Given the description of an element on the screen output the (x, y) to click on. 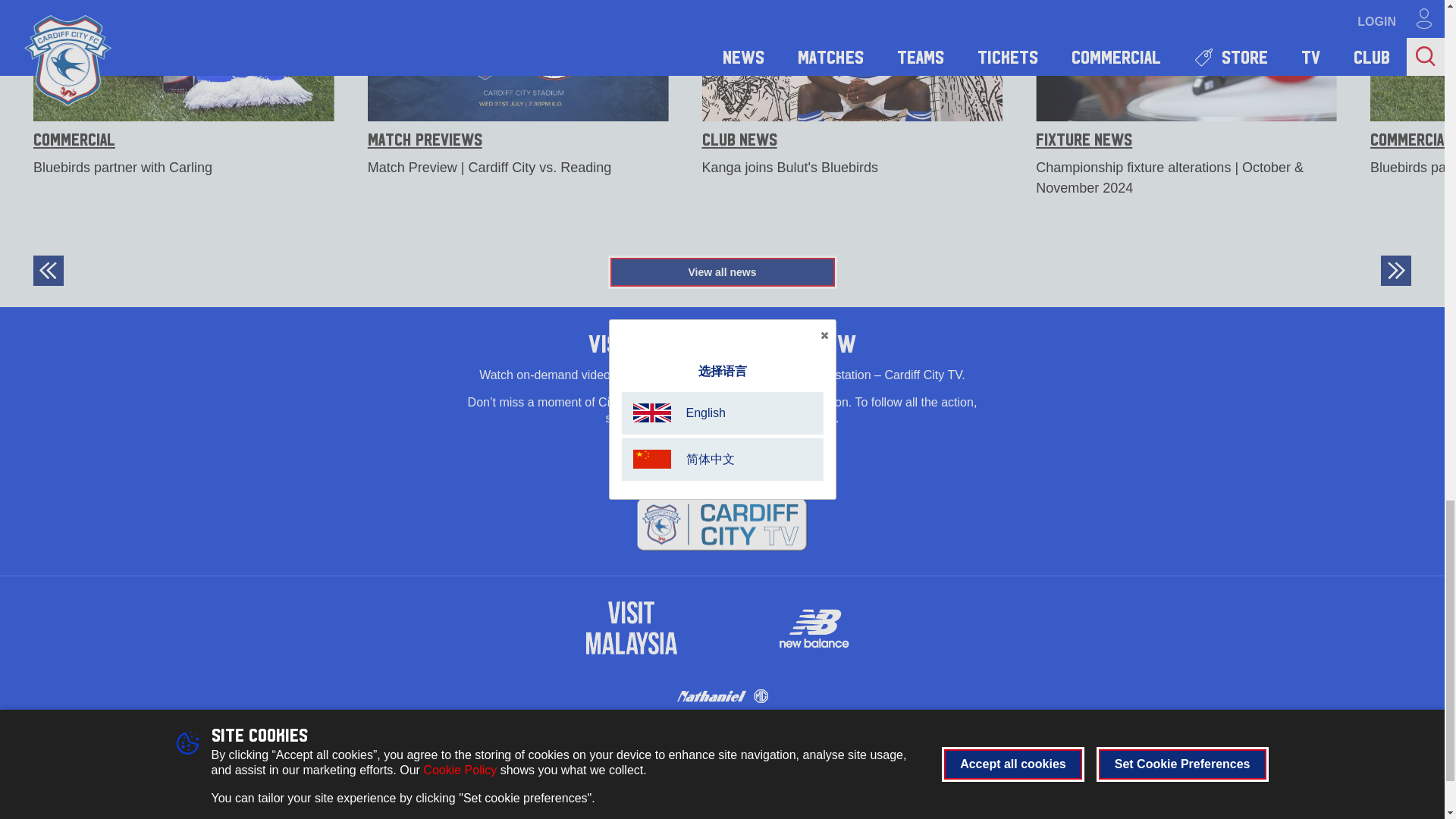
Nathaniel Cars (722, 696)
New Balance (813, 627)
Visit Malaysia (631, 627)
